Given the description of an element on the screen output the (x, y) to click on. 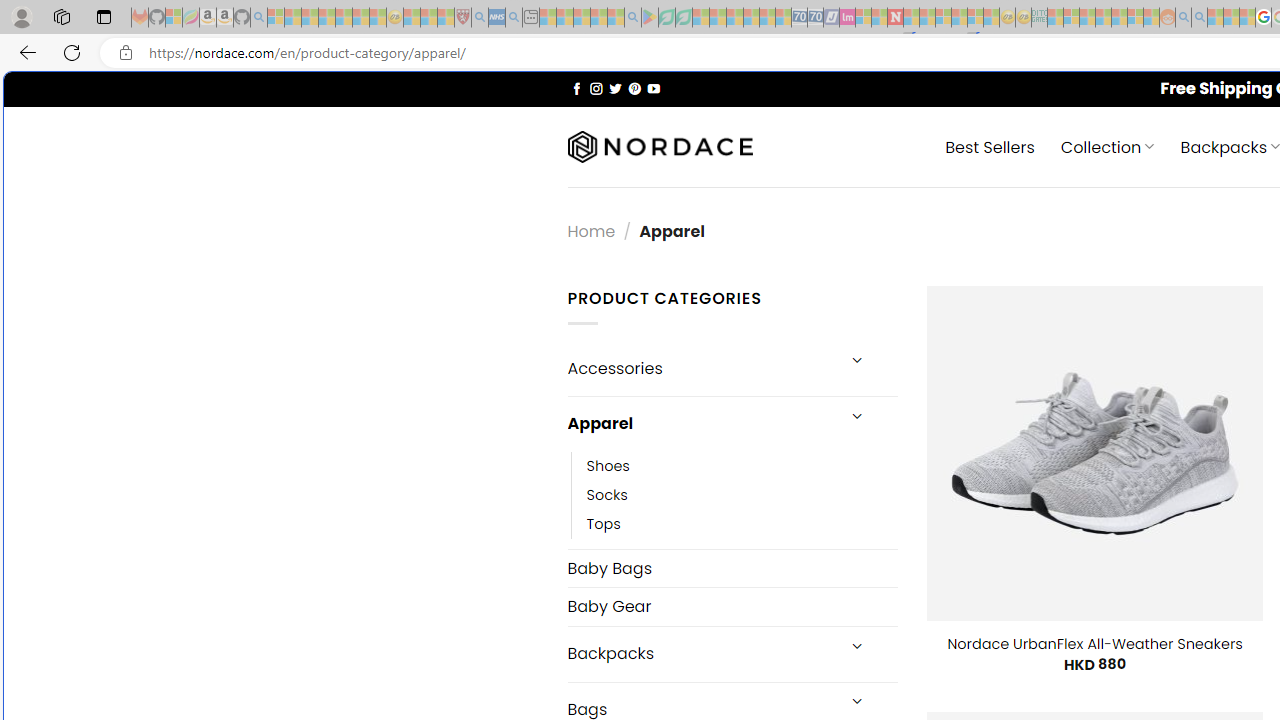
Backpacks (700, 654)
